Given the description of an element on the screen output the (x, y) to click on. 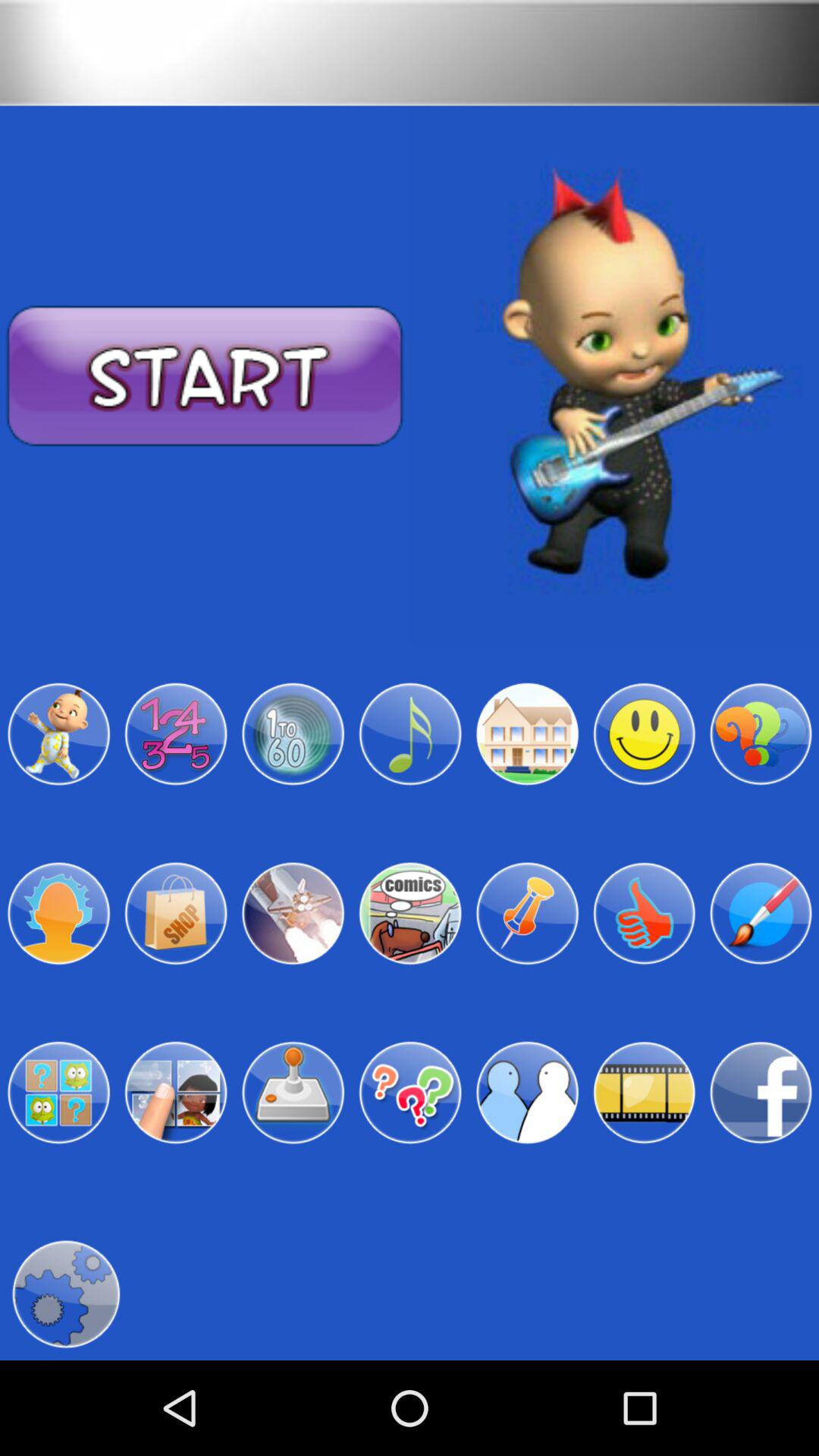
choose profile (760, 913)
